Given the description of an element on the screen output the (x, y) to click on. 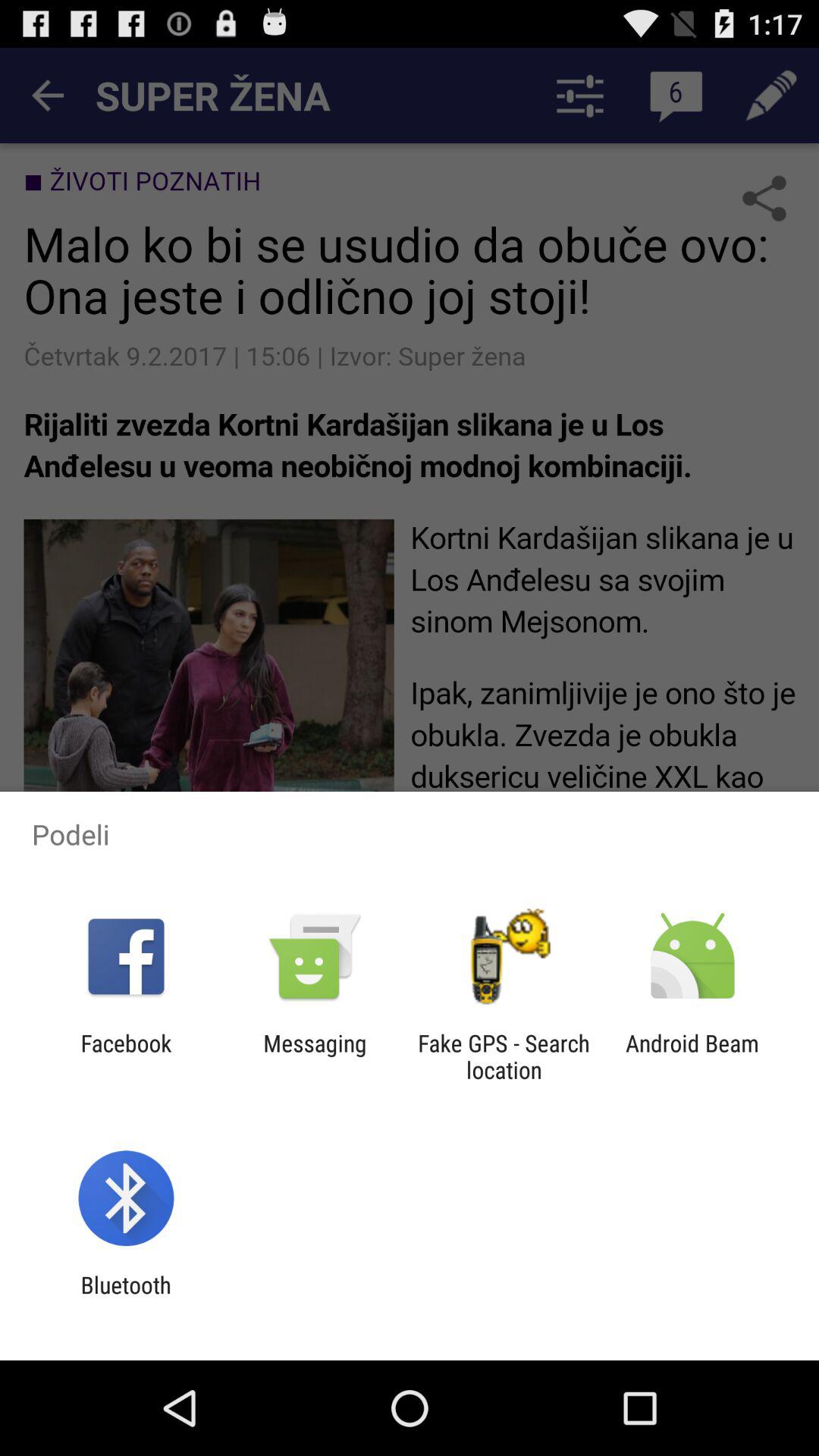
click fake gps search app (503, 1056)
